Given the description of an element on the screen output the (x, y) to click on. 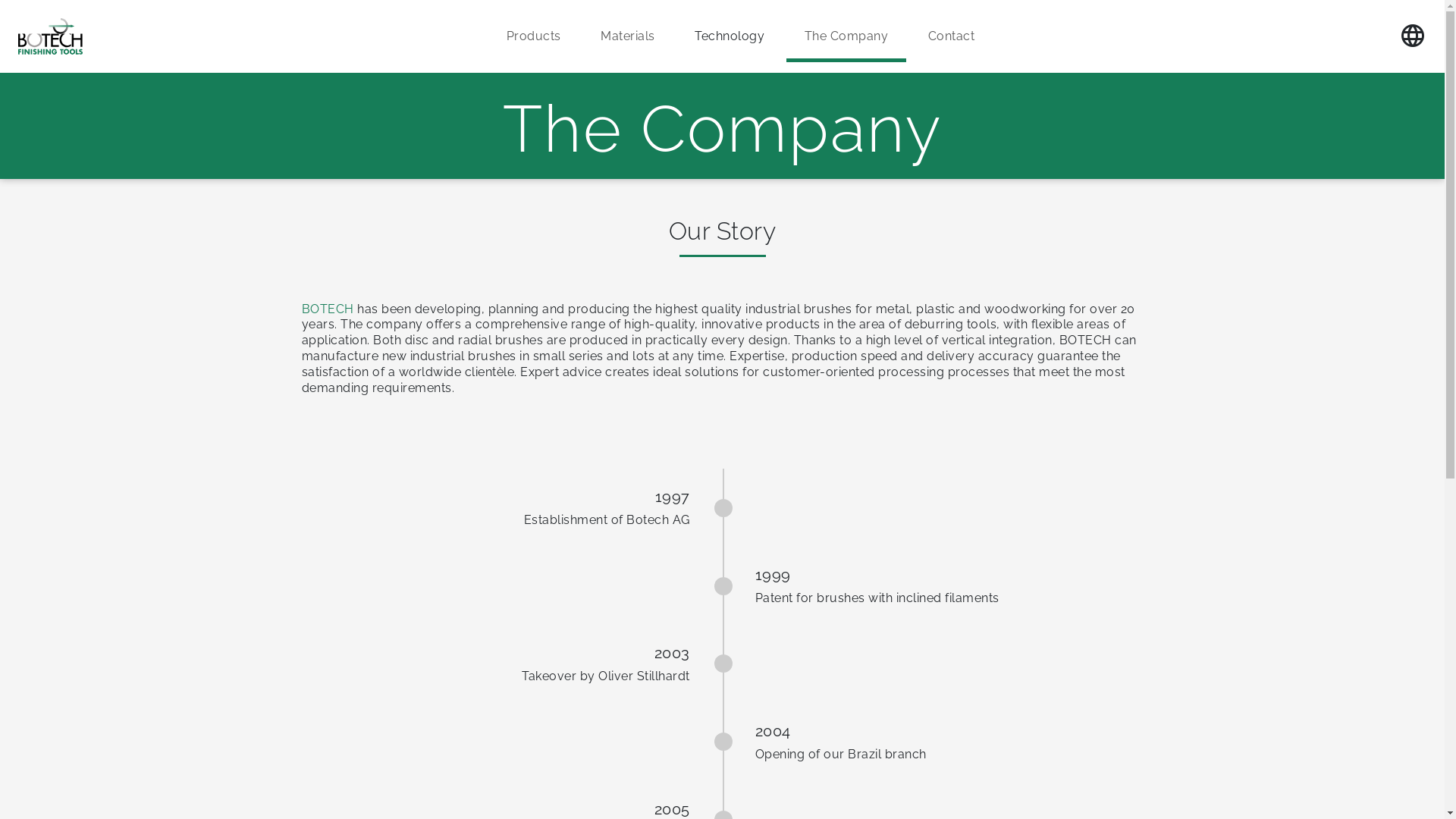
The Company Element type: text (846, 36)
Materials Element type: text (627, 36)
Contact Element type: text (951, 36)
Products Element type: text (533, 36)
